Given the description of an element on the screen output the (x, y) to click on. 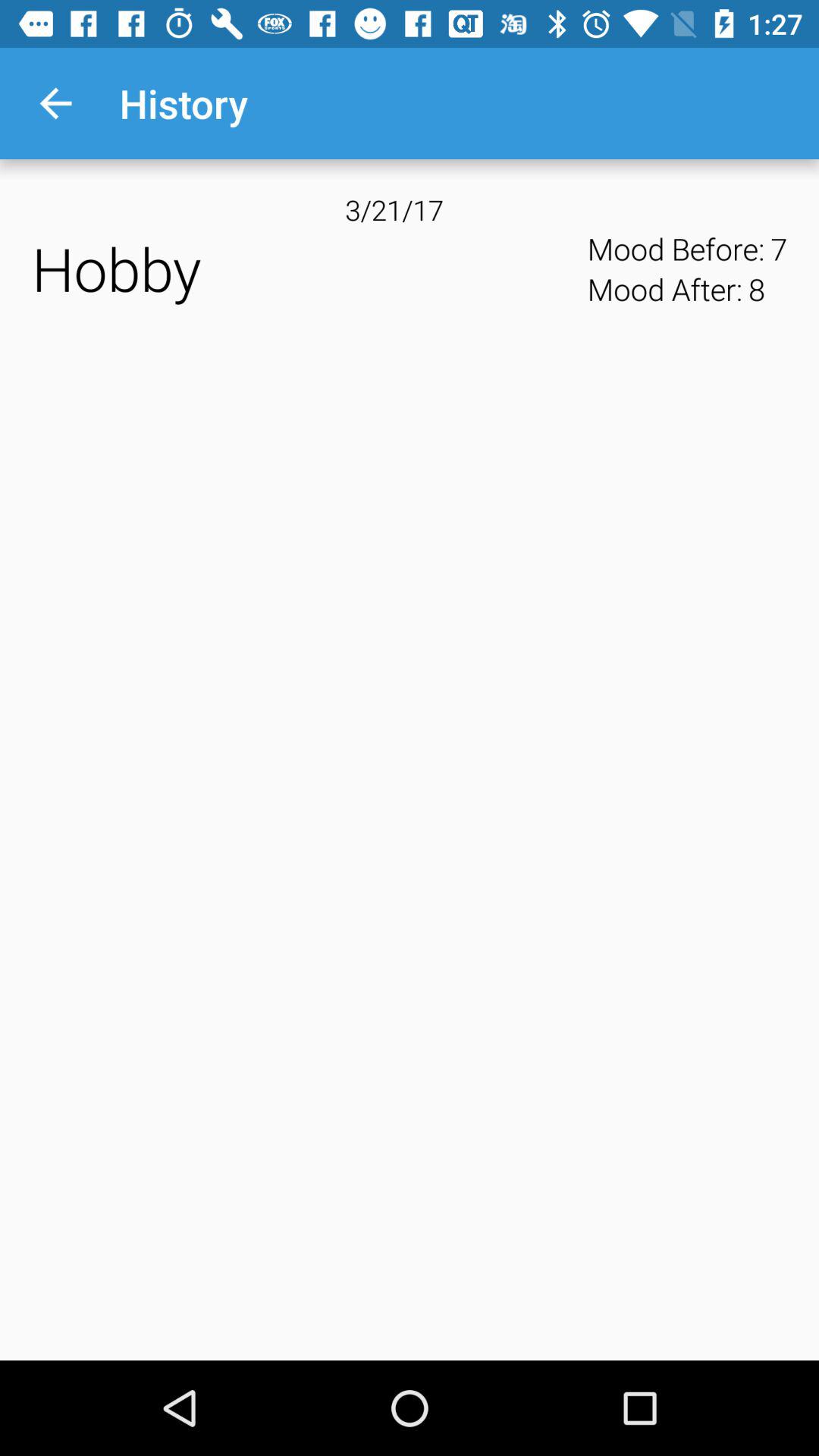
open icon to the left of 7 (756, 289)
